Given the description of an element on the screen output the (x, y) to click on. 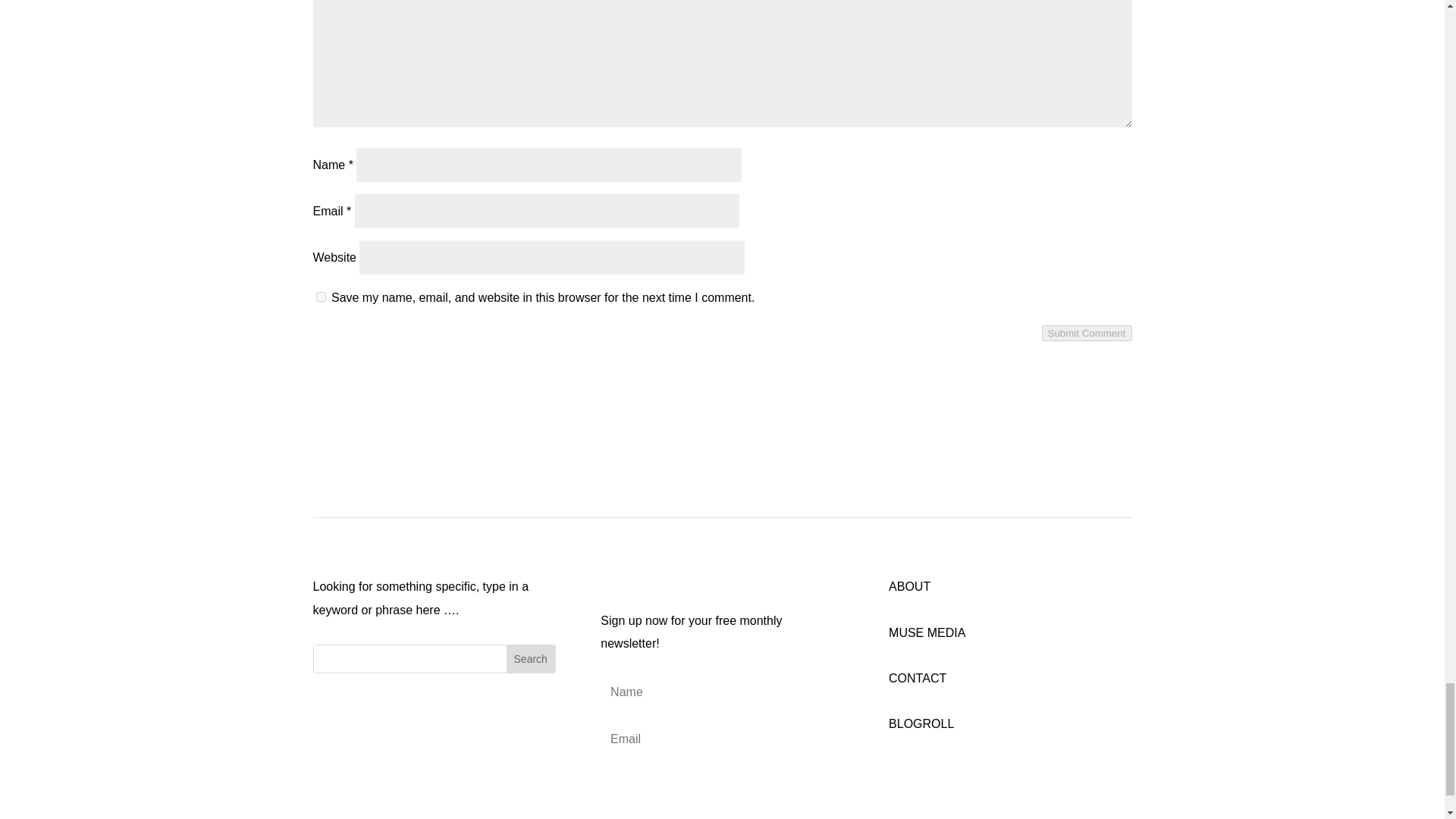
yes (319, 296)
Search (530, 658)
Search (530, 658)
